Given the description of an element on the screen output the (x, y) to click on. 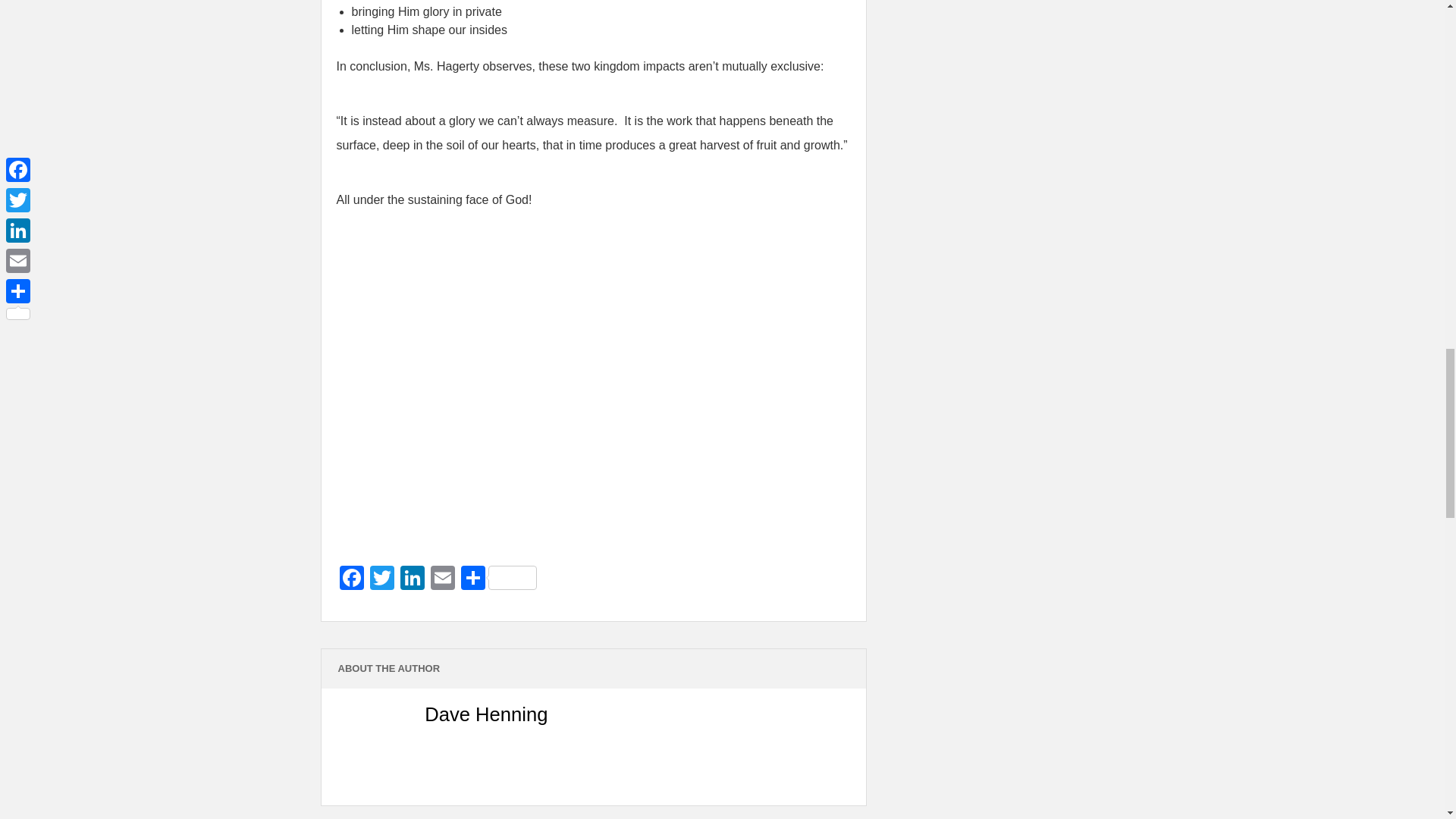
Twitter (381, 579)
LinkedIn (412, 579)
Email (443, 579)
Twitter (381, 579)
Email (443, 579)
Facebook (351, 579)
LinkedIn (412, 579)
Facebook (351, 579)
Matthew West, "You Are Everything" (526, 384)
